Given the description of an element on the screen output the (x, y) to click on. 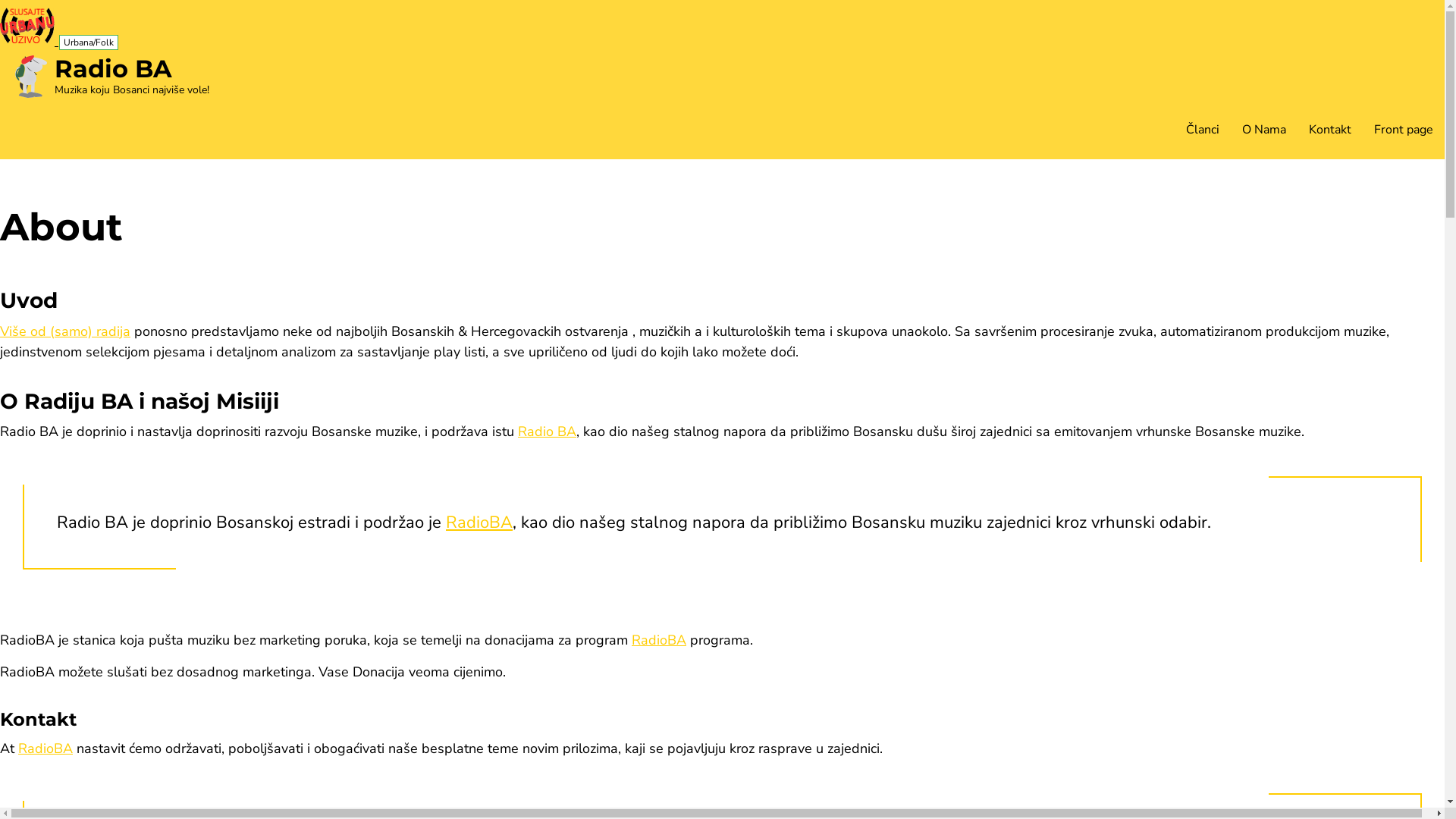
Skip to main content Element type: text (0, 0)
Home Element type: hover (31, 93)
Radio BA Element type: text (546, 431)
RadioBA Element type: text (478, 522)
Radio BA Element type: text (113, 68)
RadioBA Element type: text (45, 748)
Urbana/Folk Element type: text (88, 42)
Front page Element type: text (1403, 129)
Kontakt Element type: text (1329, 129)
O Nama Element type: text (1263, 129)
RadioBA Element type: text (658, 639)
